Given the description of an element on the screen output the (x, y) to click on. 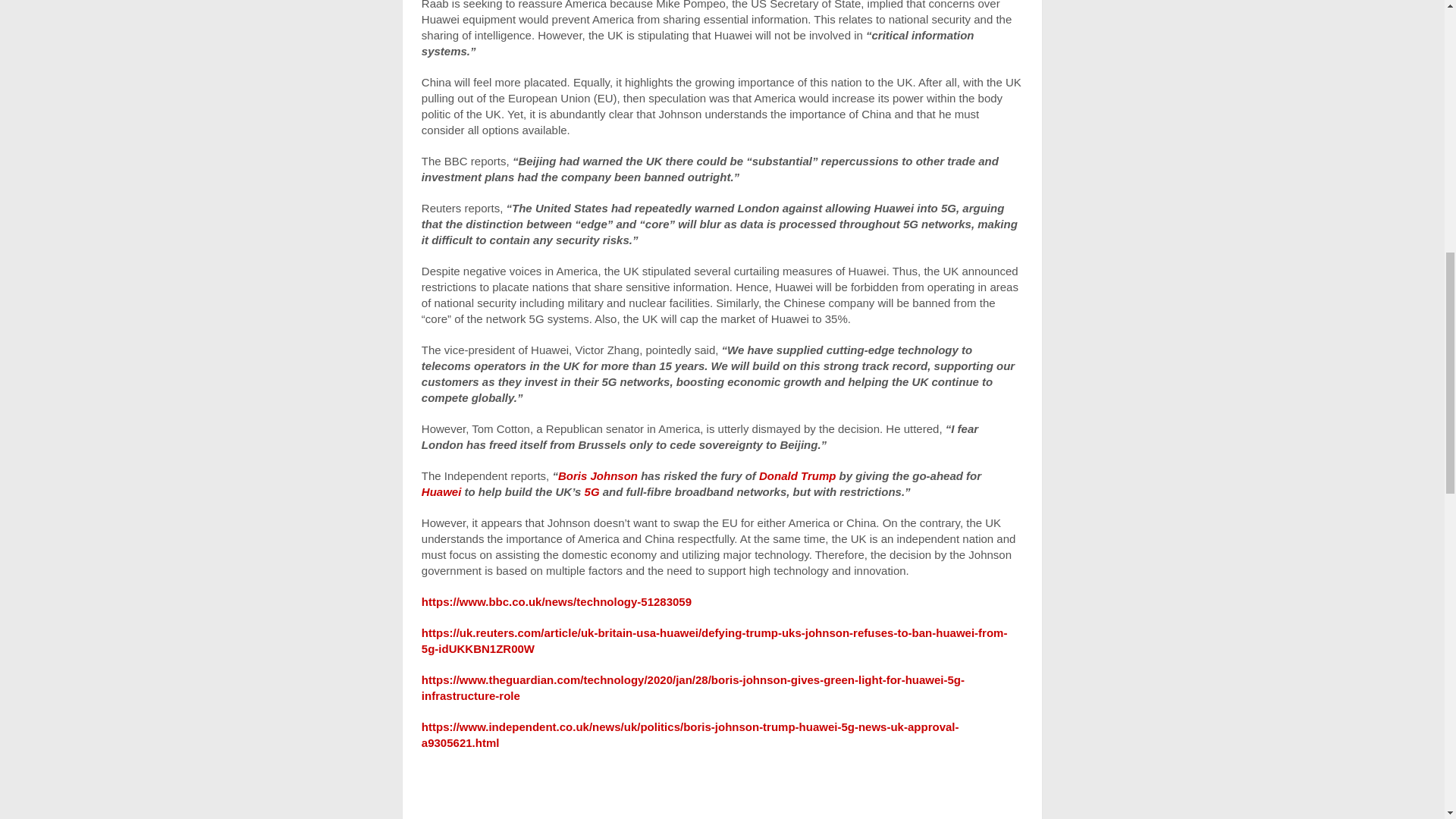
5G (592, 491)
Boris Johnson (597, 475)
Huawei (441, 491)
Donald Trump (796, 475)
